Given the description of an element on the screen output the (x, y) to click on. 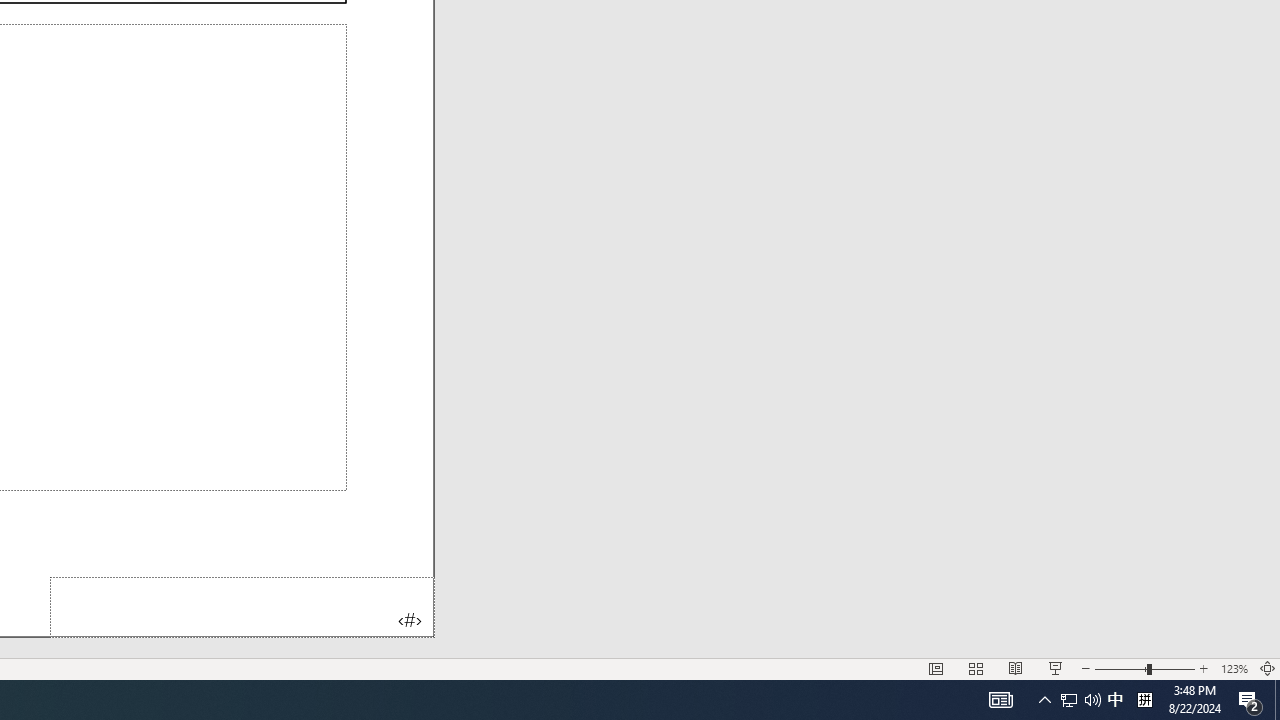
Zoom 123% (1234, 668)
Page Number (242, 606)
